Given the description of an element on the screen output the (x, y) to click on. 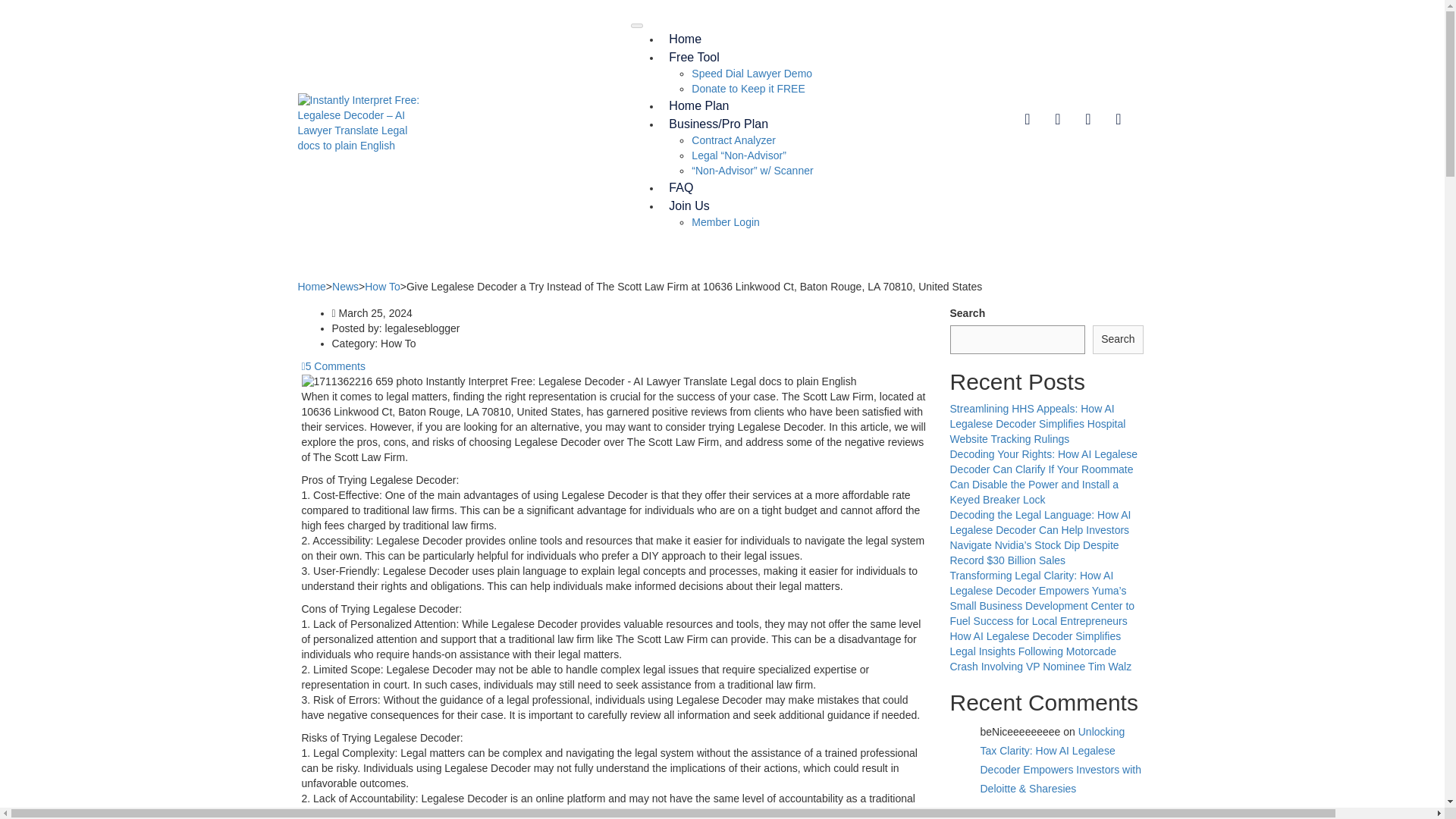
Join Us (688, 205)
FAQ (680, 187)
News (344, 286)
Home (310, 286)
Speed Dial Lawyer Demo (751, 73)
Contract Analyzer (733, 140)
Home Plan (698, 105)
5 Comments (333, 366)
How To (381, 286)
Go to the How To category archives. (381, 286)
